Given the description of an element on the screen output the (x, y) to click on. 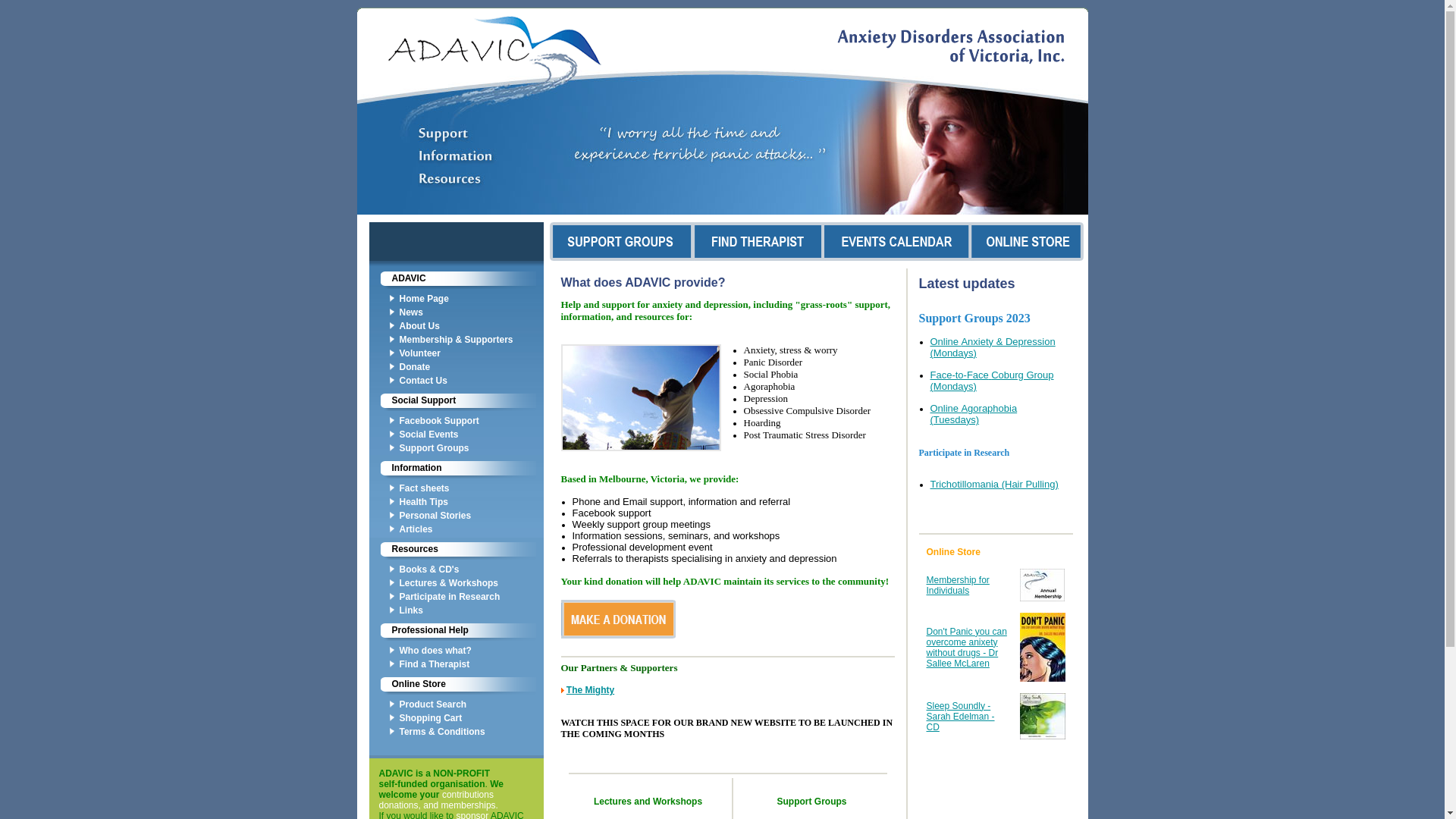
Face-to-Face Coburg Group (Mondays) Element type: text (991, 381)
Support Groups Element type: text (470, 448)
News Element type: text (470, 312)
Participate in Research Element type: text (470, 596)
Online Anxiety & Depression (Mondays) Element type: text (991, 347)
Facebook Support Element type: text (470, 420)
Articles Element type: text (470, 529)
Shopping Cart Element type: text (470, 717)
ADAVIC Element type: text (455, 279)
Find a Therapist Element type: text (470, 664)
Books & CD's Element type: text (470, 569)
About Us Element type: text (470, 325)
Health Tips Element type: text (470, 501)
Fact sheets Element type: text (470, 488)
Resources Element type: text (455, 550)
Social Support Element type: text (455, 402)
Personal Stories Element type: text (470, 515)
contributions Element type: text (467, 794)
Online Store Element type: text (953, 551)
Lectures & Workshops Element type: text (470, 582)
Who does what? Element type: text (470, 650)
Online Agoraphobia (Tuesdays) Element type: text (972, 414)
Trichotillomania (Hair Pulling) Element type: text (993, 483)
The Mighty Element type: text (590, 689)
Links Element type: text (470, 610)
Social Events Element type: text (470, 434)
Information Element type: text (455, 469)
Terms & Conditions Element type: text (470, 731)
Home Page Element type: text (470, 298)
Contact Us Element type: text (470, 380)
Membership for Individuals Element type: text (957, 585)
Product Search Element type: text (470, 704)
Donate Element type: text (470, 366)
Online Store Element type: text (455, 685)
Professional Help Element type: text (455, 631)
donations Element type: text (398, 805)
Volunteer Element type: text (470, 353)
Sleep Soundly - Sarah Edelman - CD Element type: text (960, 716)
Membership & Supporters Element type: text (470, 339)
memberships Element type: text (468, 805)
